Given the description of an element on the screen output the (x, y) to click on. 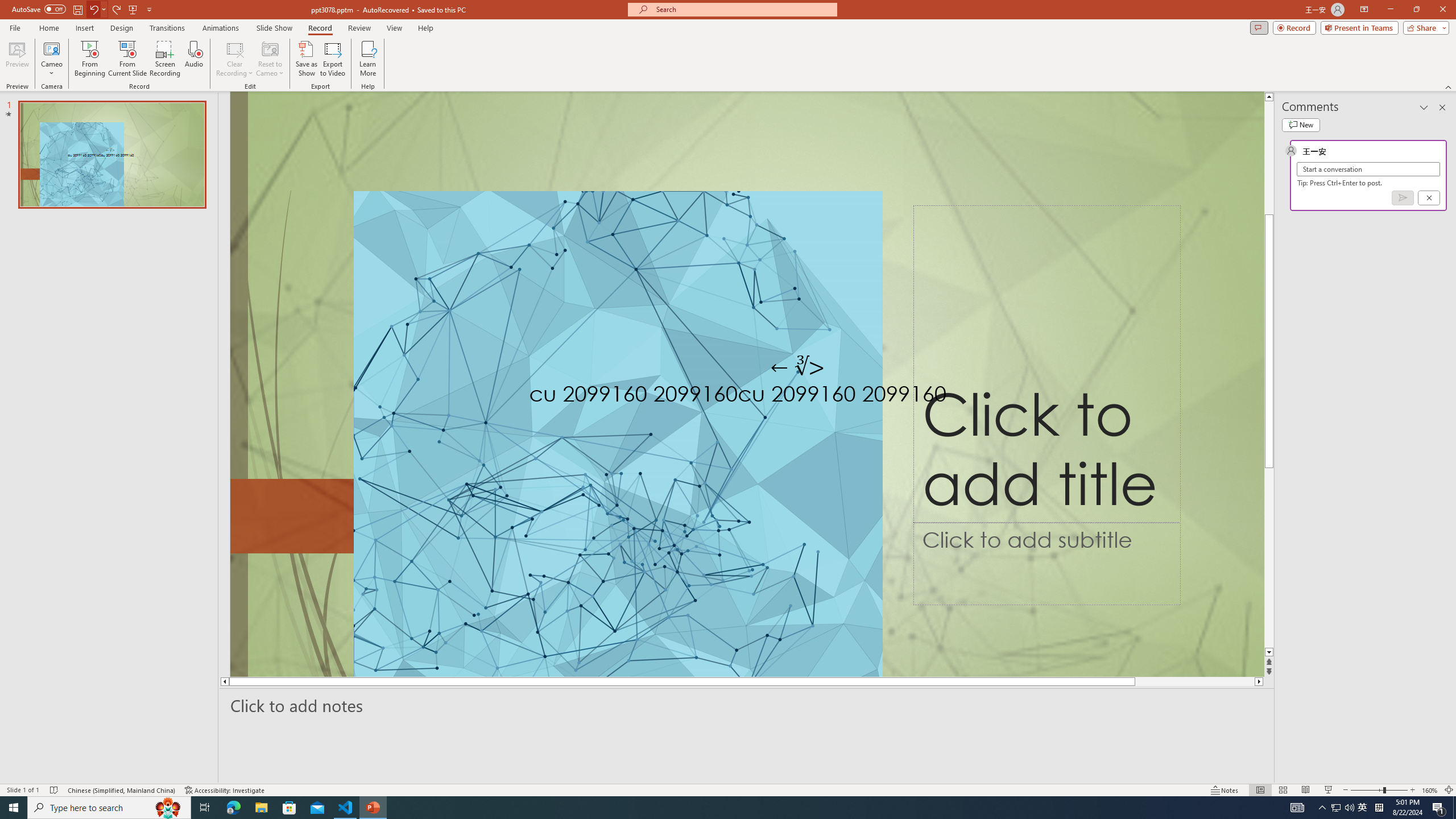
Line down (1268, 652)
